Given the description of an element on the screen output the (x, y) to click on. 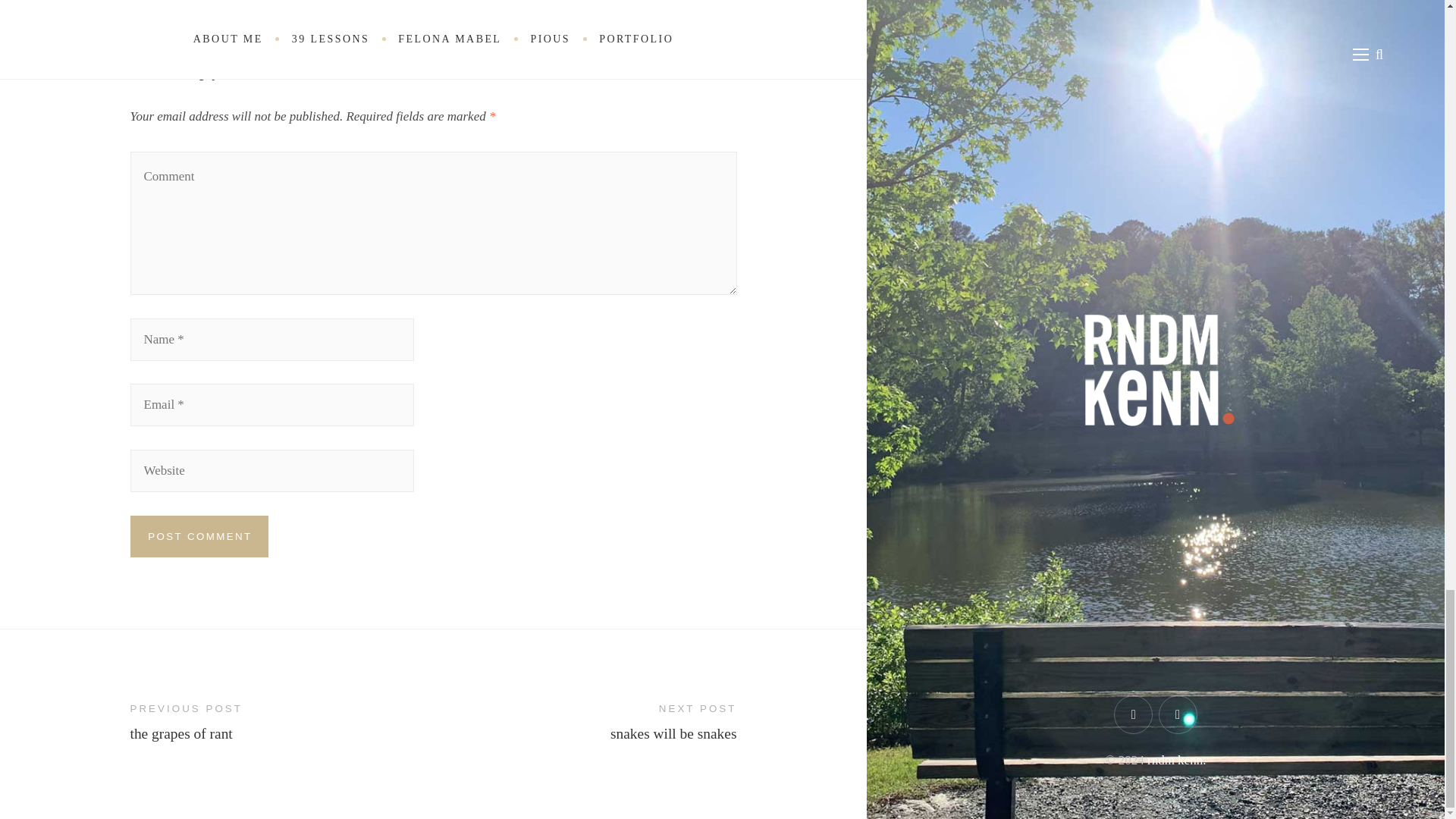
Post Comment (200, 536)
